Given the description of an element on the screen output the (x, y) to click on. 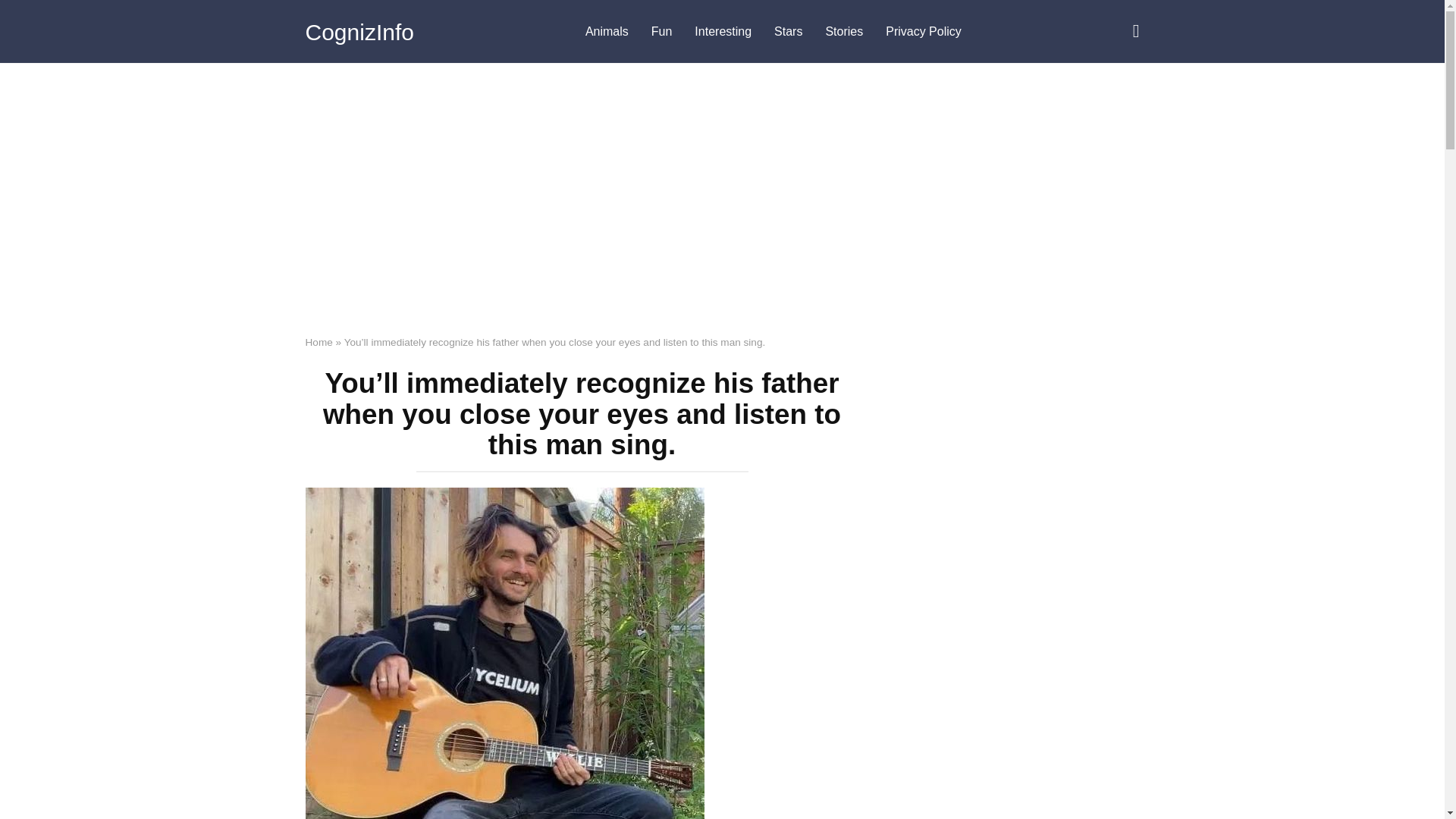
CognizInfo (358, 32)
Animals (606, 31)
Fun (662, 31)
Privacy Policy (923, 31)
Interesting (722, 31)
Home (317, 342)
Stories (844, 31)
Stars (787, 31)
